Given the description of an element on the screen output the (x, y) to click on. 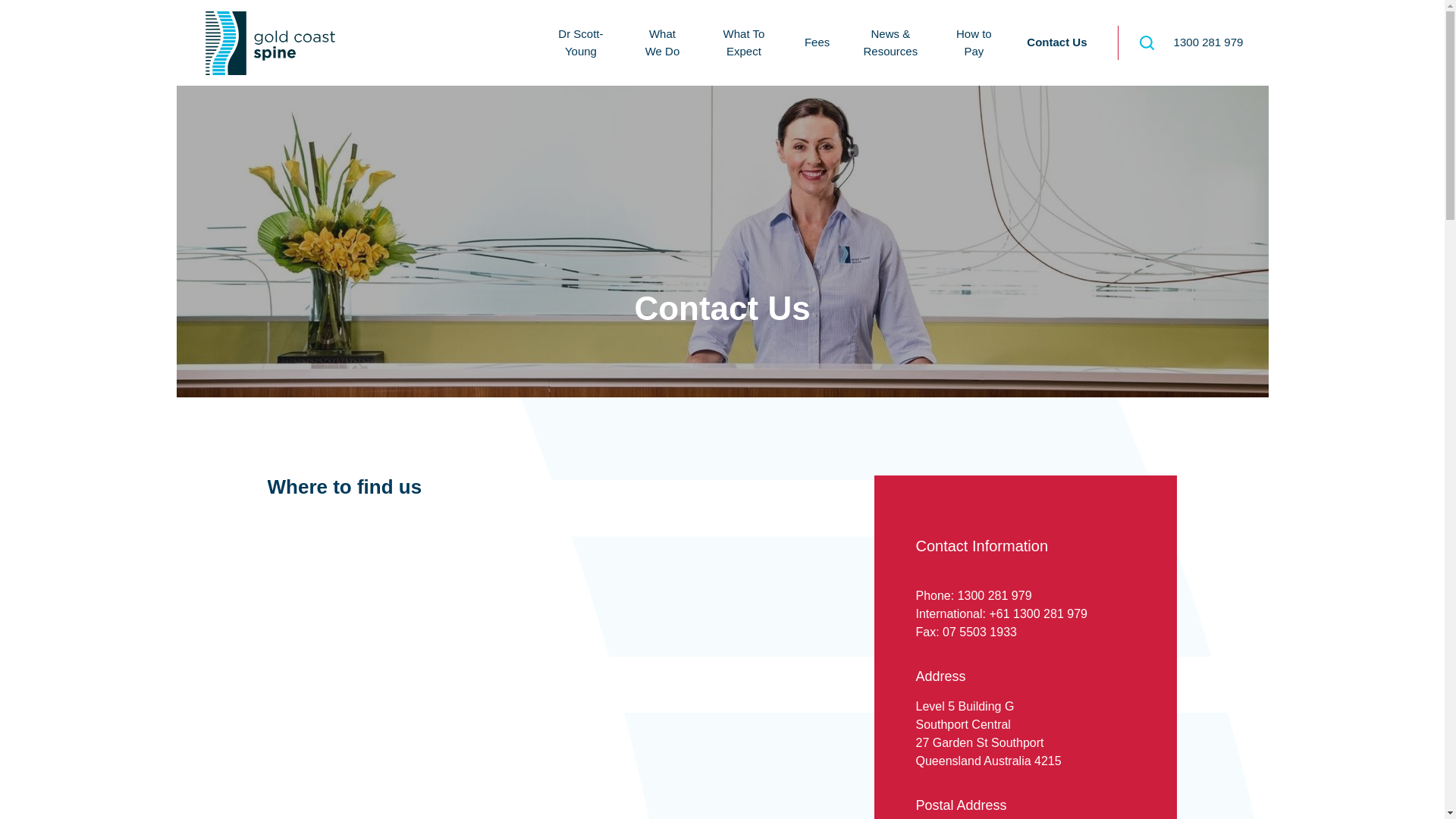
1300 281 979 Element type: text (994, 595)
Dr Scott-Young Element type: text (580, 42)
Contact Us Element type: text (1056, 42)
How to Pay Element type: text (973, 42)
News & Resources Element type: text (889, 42)
What To Expect Element type: text (743, 42)
+61 1300 281 979 Element type: text (1037, 613)
Fees Element type: text (816, 42)
1300 281 979 Element type: text (1208, 42)
What We Do Element type: text (662, 42)
07 5503 1933 Element type: text (979, 631)
